Given the description of an element on the screen output the (x, y) to click on. 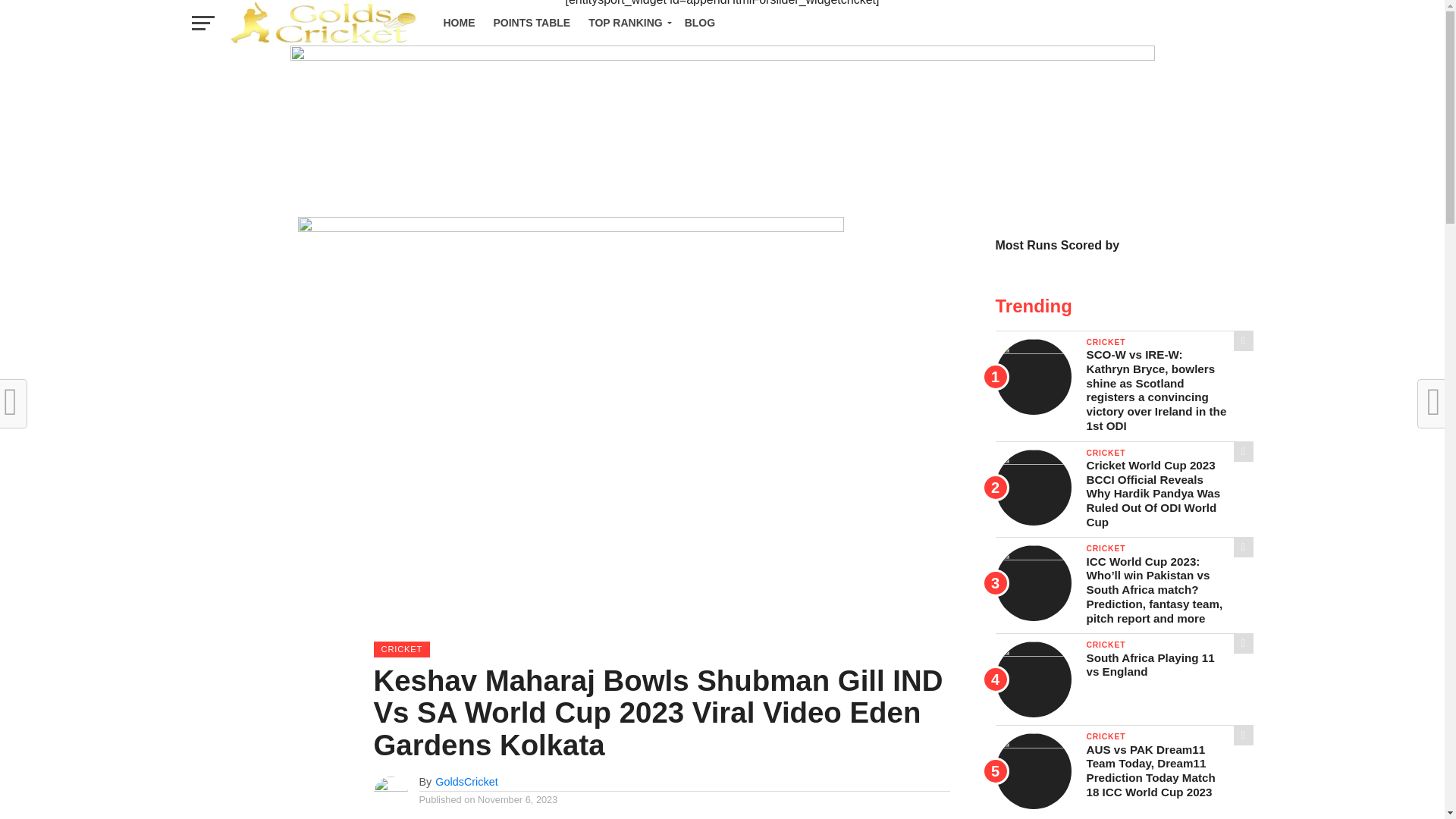
POINTS TABLE (531, 22)
Posts by GoldsCricket (466, 781)
TOP RANKING (627, 22)
BLOG (699, 22)
HOME (458, 22)
GoldsCricket (466, 781)
